Given the description of an element on the screen output the (x, y) to click on. 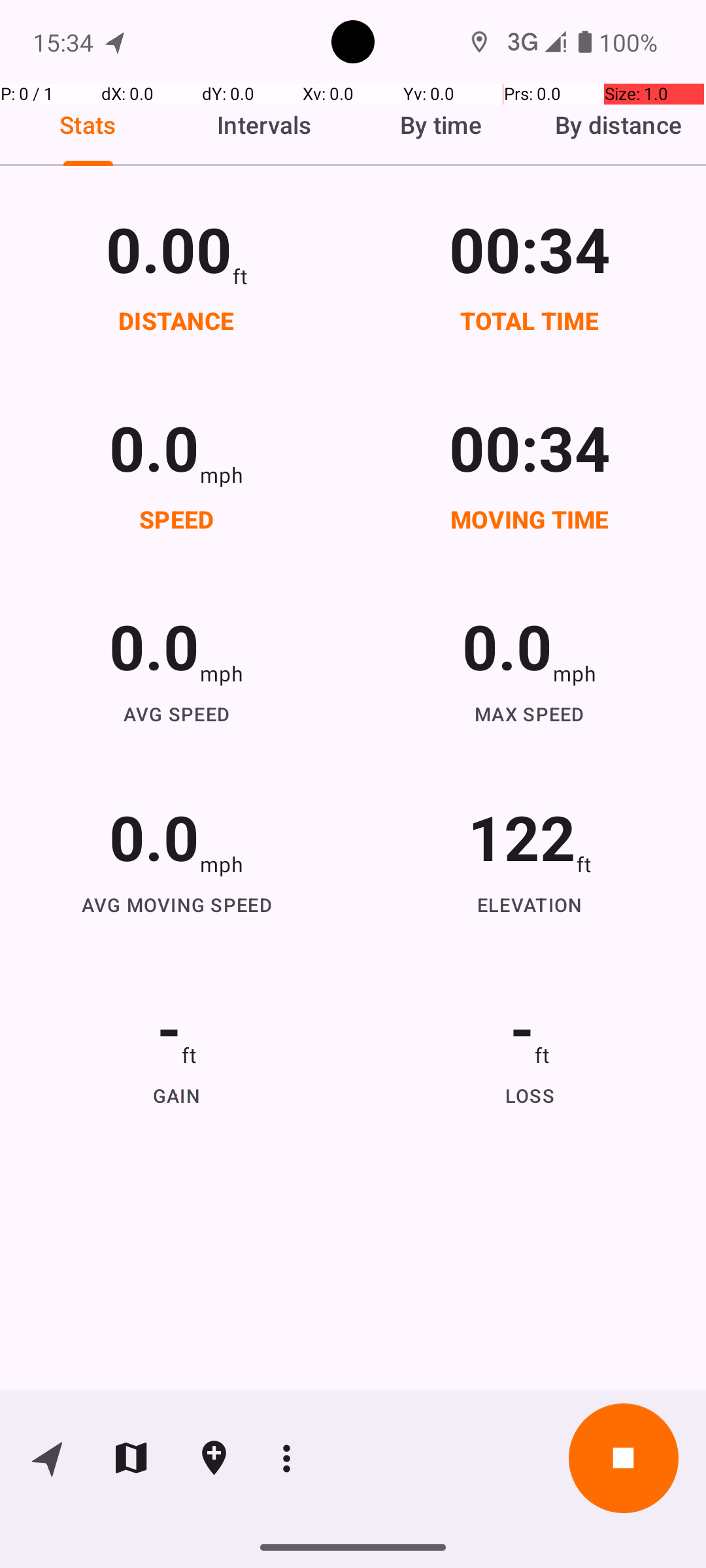
Insert marker Element type: android.widget.Button (213, 1458)
Stop Element type: android.widget.ImageButton (623, 1458)
0.00 Element type: android.widget.TextView (168, 248)
00:34 Element type: android.widget.TextView (529, 248)
0.0 Element type: android.widget.TextView (154, 446)
122 Element type: android.widget.TextView (521, 836)
- Element type: android.widget.TextView (168, 1026)
